Given the description of an element on the screen output the (x, y) to click on. 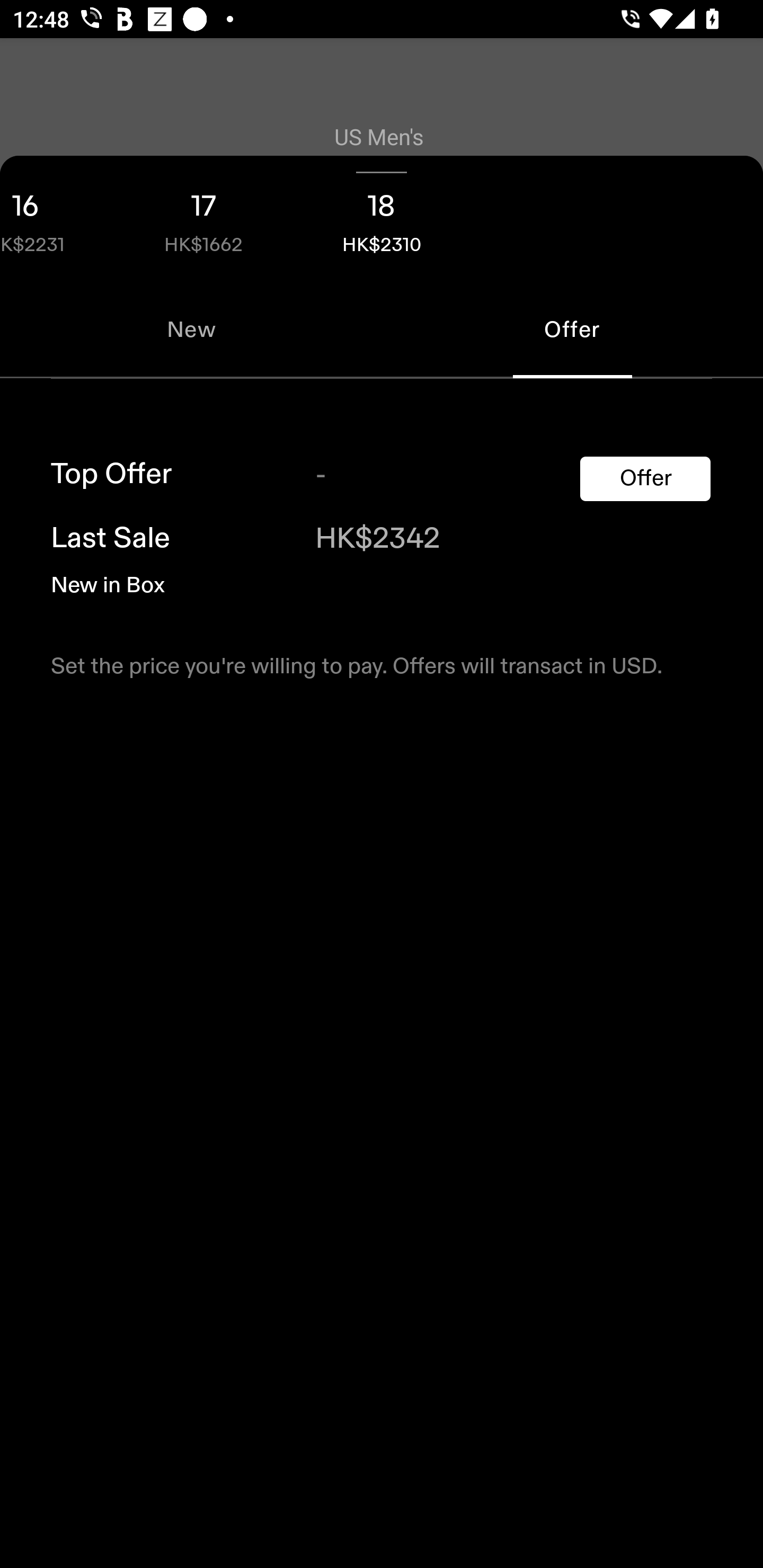
16 HK$2231 (57, 218)
17 HK$1662 (203, 218)
18 HK$2310 (381, 218)
New (190, 329)
Offer (644, 478)
